Given the description of an element on the screen output the (x, y) to click on. 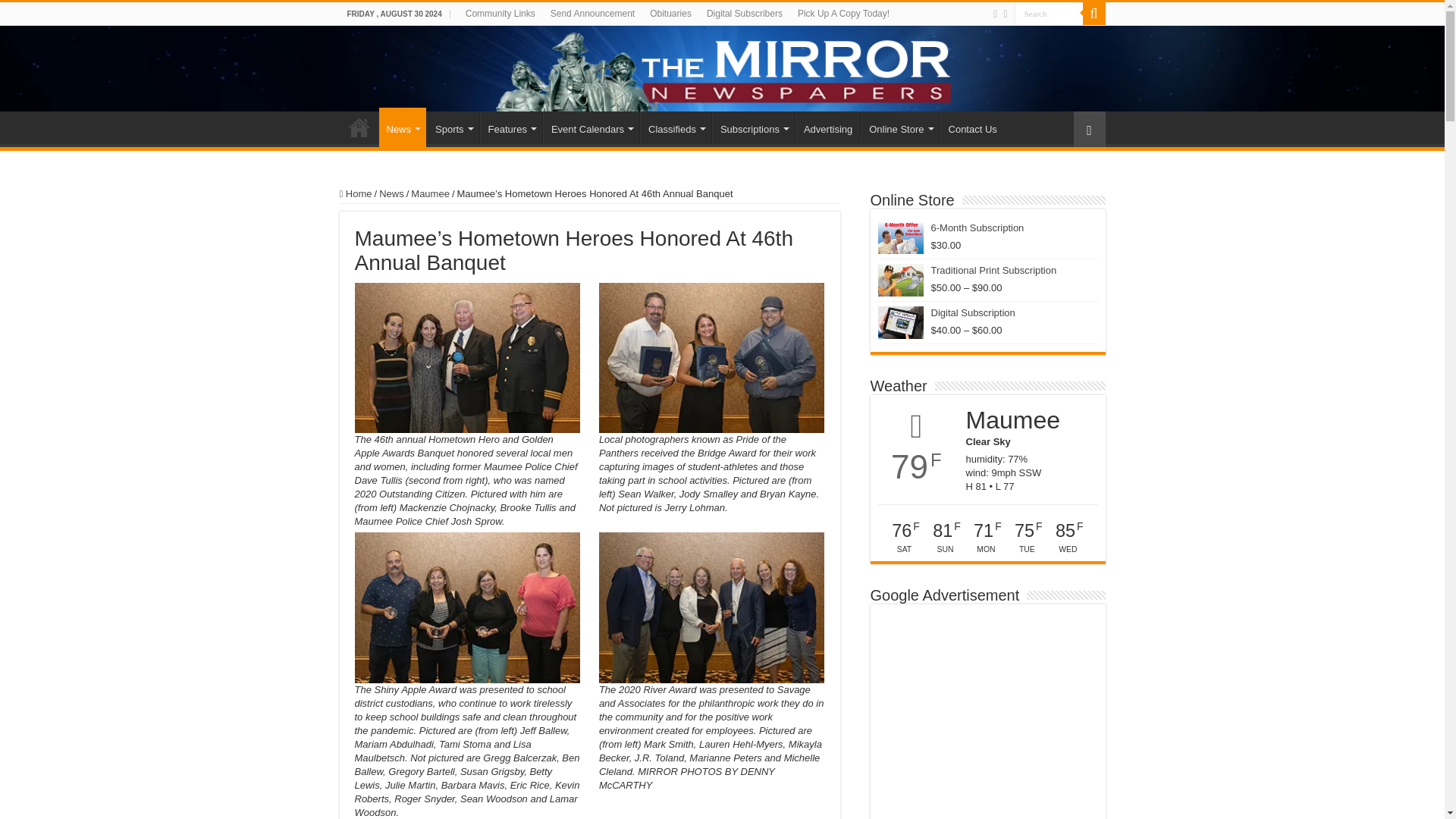
The Mirror Newspapers (722, 68)
Search (1048, 13)
Search (1048, 13)
Advertisement (986, 715)
Search (1048, 13)
